Given the description of an element on the screen output the (x, y) to click on. 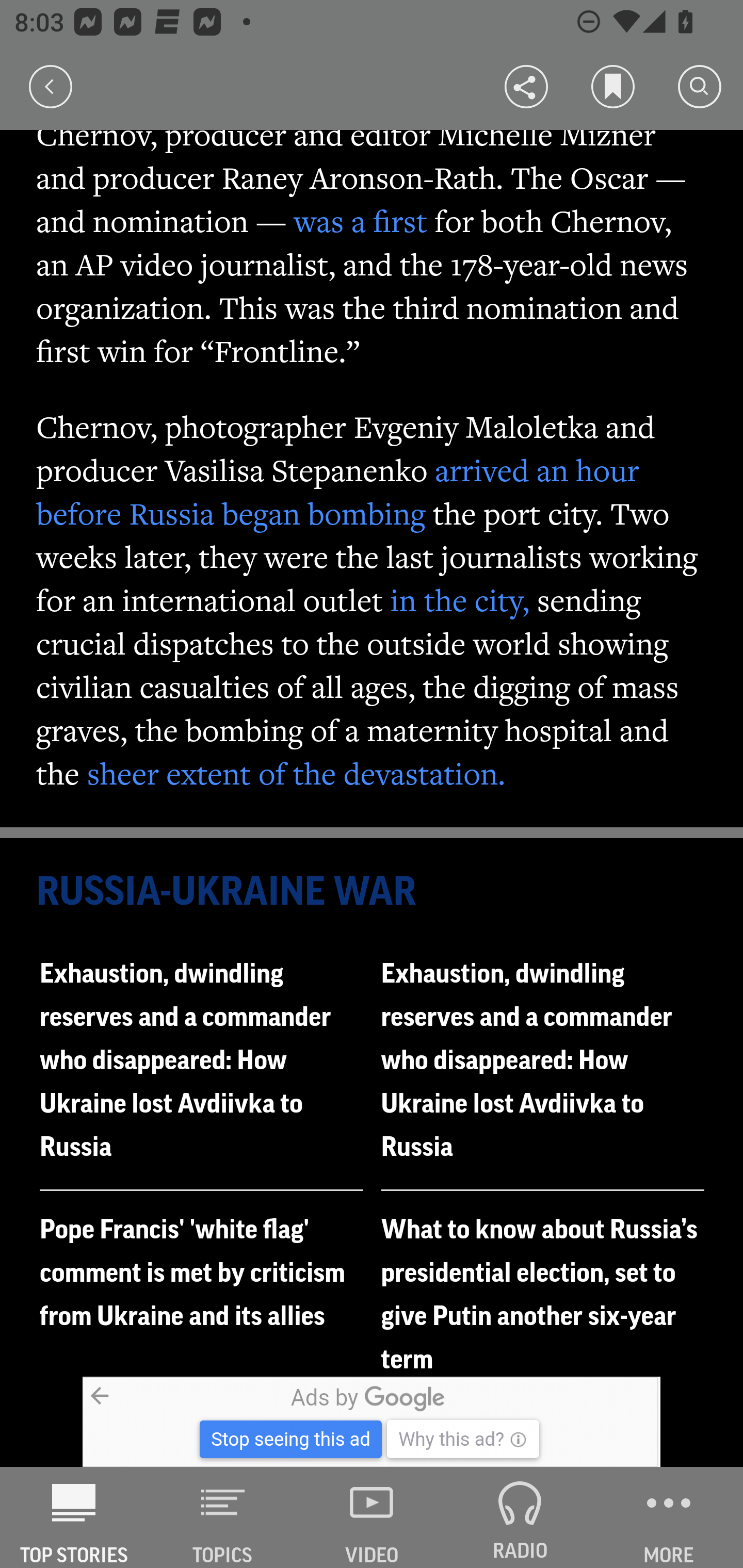
was a first (359, 221)
arrived an hour before Russia began bombing (338, 491)
in the city, (460, 599)
sheer extent of the devastation. (295, 772)
RUSSIA-UKRAINE WAR (372, 891)
AP News TOP STORIES (74, 1517)
TOPICS (222, 1517)
VIDEO (371, 1517)
RADIO (519, 1517)
MORE (668, 1517)
